Given the description of an element on the screen output the (x, y) to click on. 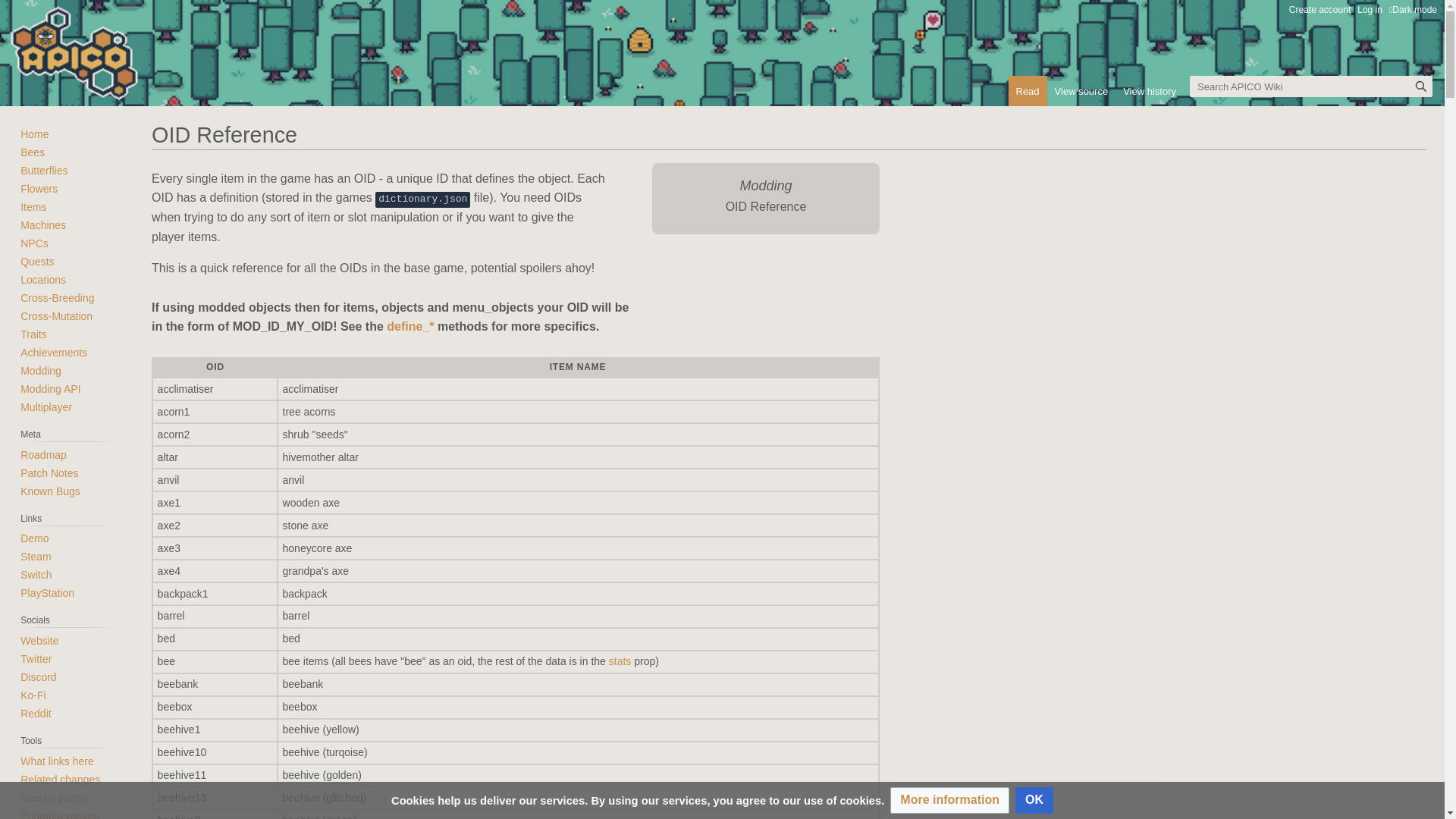
Quests Element type: text (36, 261)
Log in Element type: text (1369, 9)
Steam Element type: text (35, 556)
stats Element type: text (619, 661)
Twitter Element type: text (35, 658)
Roadmap Element type: text (43, 454)
Butterflies Element type: text (43, 170)
What links here Element type: text (56, 761)
Multiplayer Element type: text (46, 407)
Items Element type: text (33, 206)
More information Element type: text (949, 800)
Switch Element type: text (35, 574)
Related changes Element type: text (60, 779)
Achievements Element type: text (53, 352)
NPCs Element type: text (34, 243)
Home Element type: text (34, 134)
OK Element type: text (1034, 800)
Bees Element type: text (32, 152)
Discord Element type: text (38, 677)
PlayStation Element type: text (47, 592)
Dark mode Element type: text (1413, 9)
View source Element type: text (1081, 90)
Traits Element type: text (33, 334)
Visit the main page Element type: hover (74, 68)
Cross-Mutation Element type: text (56, 316)
Ko-Fi Element type: text (32, 695)
Known Bugs Element type: text (50, 491)
Jump to navigation Element type: text (150, 162)
define_* Element type: text (409, 326)
View history Element type: text (1149, 90)
Flowers Element type: text (38, 188)
Website Element type: text (39, 640)
Search Element type: text (1420, 86)
Special pages Element type: text (53, 797)
Create account Element type: text (1319, 9)
Read Element type: text (1027, 90)
Modding Element type: text (40, 370)
Machines Element type: text (42, 225)
Locations Element type: text (42, 279)
Patch Notes Element type: text (49, 473)
Modding API Element type: text (50, 388)
Cross-Breeding Element type: text (57, 297)
Search the pages for this text Element type: hover (1420, 86)
Demo Element type: text (34, 538)
Search APICO Wiki [alt-shift-f] Element type: hover (1310, 86)
Reddit Element type: text (35, 713)
